Given the description of an element on the screen output the (x, y) to click on. 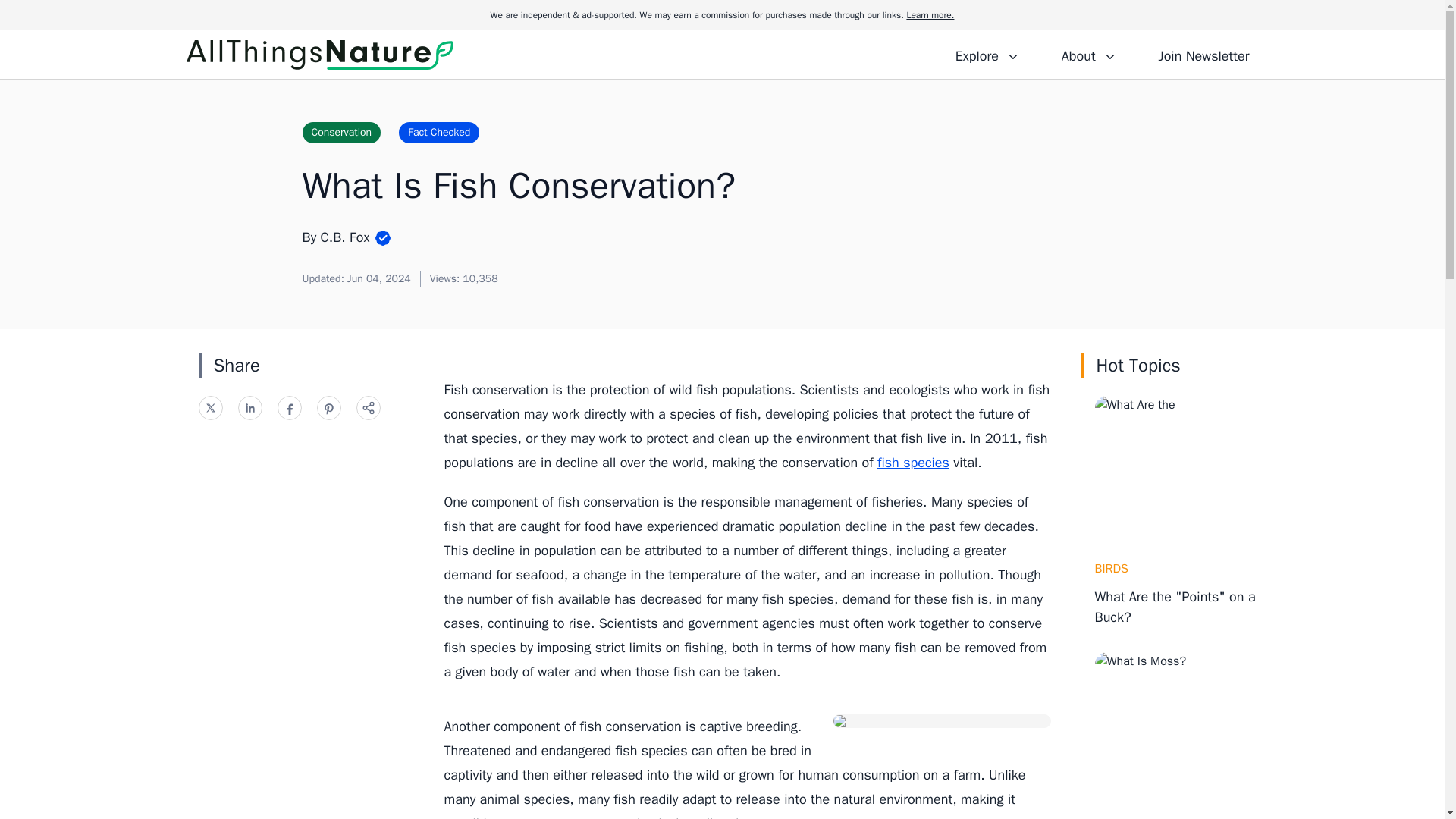
Fact Checked (438, 132)
Conservation (340, 132)
About (1088, 54)
Learn more. (929, 15)
Explore (986, 54)
Join Newsletter (1202, 54)
